Given the description of an element on the screen output the (x, y) to click on. 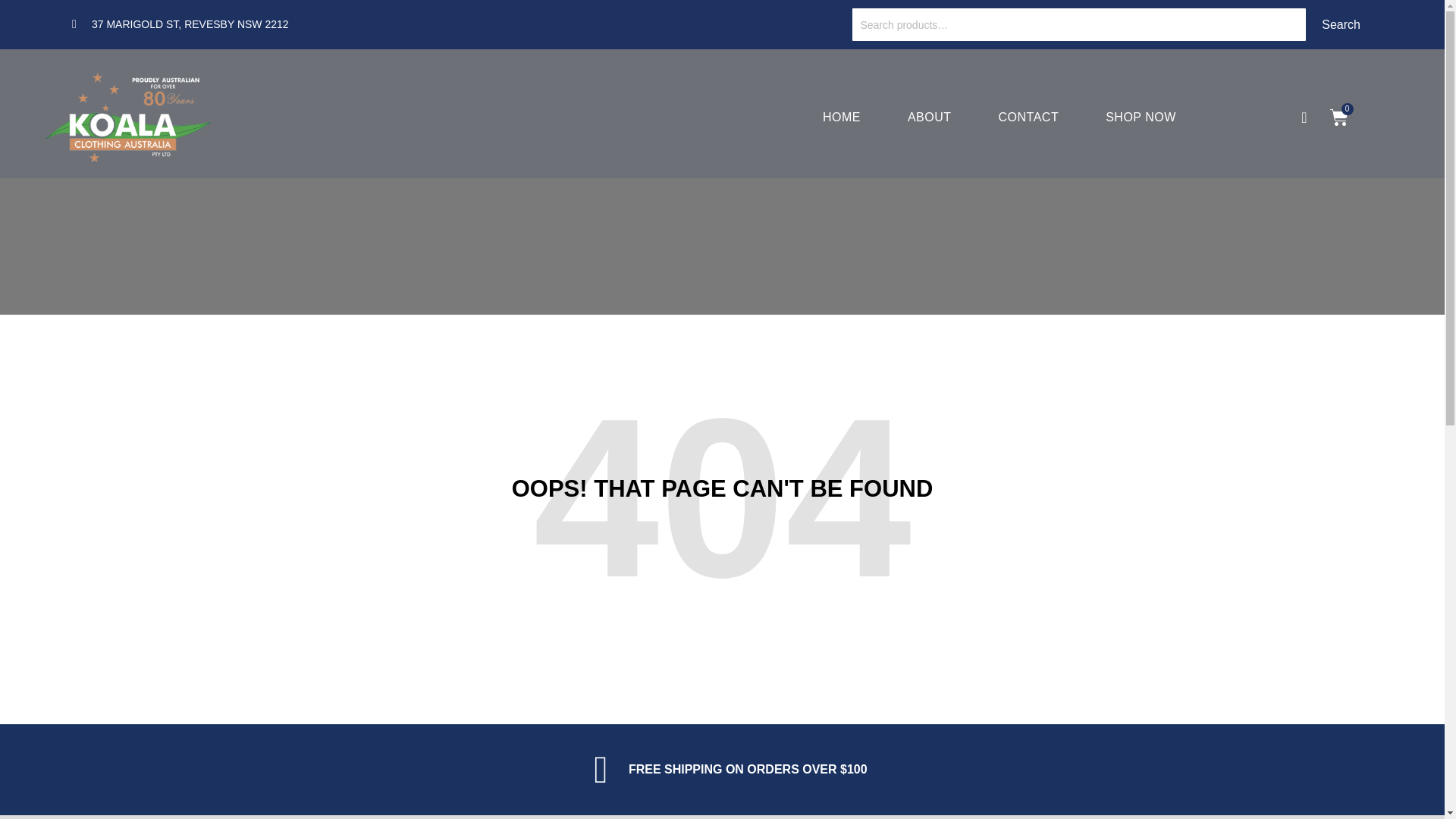
0
Cart Element type: text (1339, 117)
HOME Element type: text (841, 117)
SHOP NOW Element type: text (1140, 117)
CONTACT Element type: text (1029, 117)
ABOUT Element type: text (929, 117)
Search Element type: text (1340, 24)
